Given the description of an element on the screen output the (x, y) to click on. 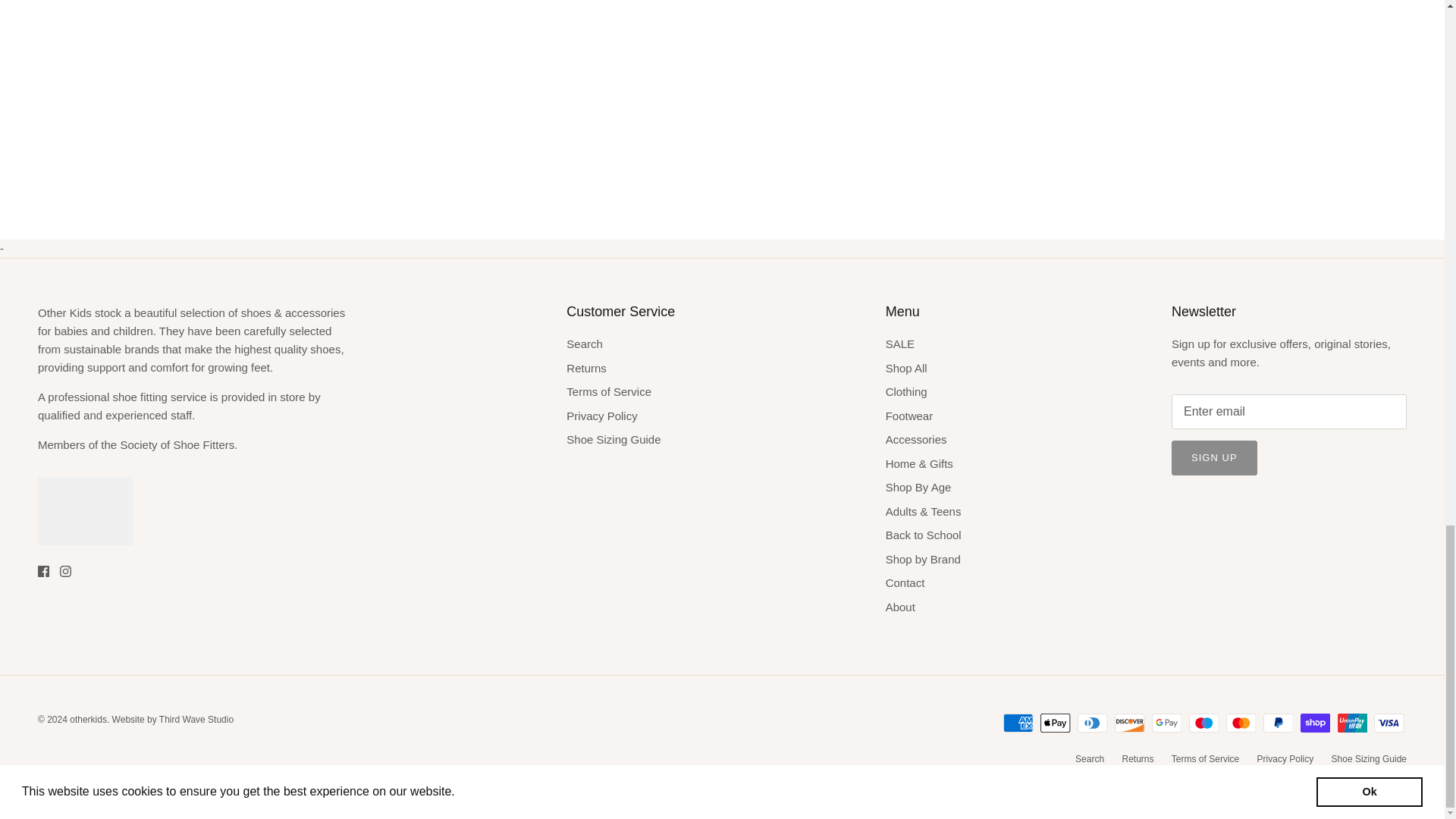
Instagram (65, 571)
Google Pay (1166, 722)
Facebook (43, 571)
Apple Pay (1055, 722)
Diners Club (1092, 722)
Discover (1129, 722)
American Express (1018, 722)
